Given the description of an element on the screen output the (x, y) to click on. 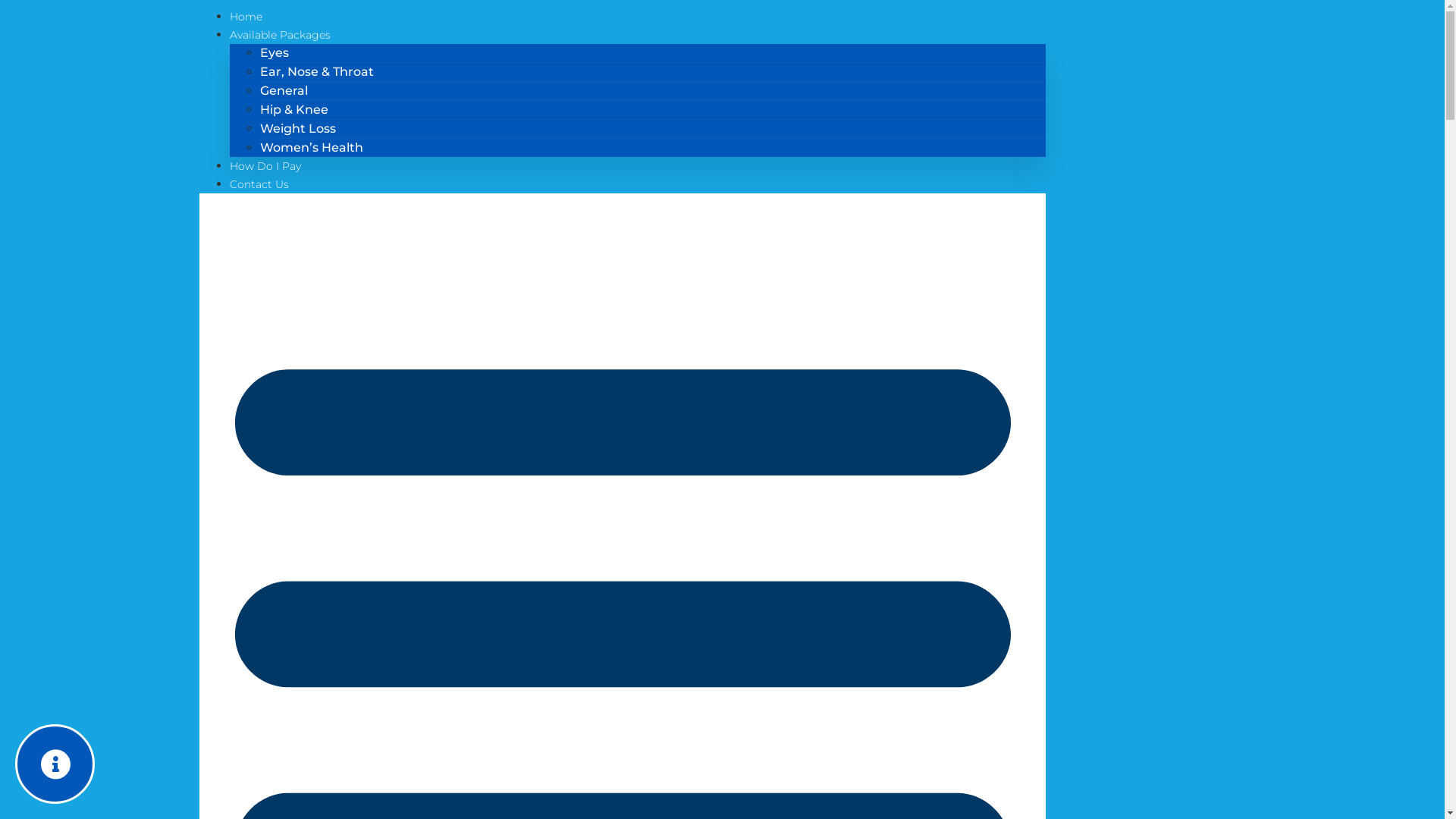
How Do I Pay Element type: text (264, 165)
Weight Loss Element type: text (297, 128)
Available Packages Element type: text (279, 34)
General Element type: text (283, 90)
Contact Us Element type: text (258, 184)
Ear, Nose & Throat Element type: text (316, 71)
Eyes Element type: text (273, 52)
Hip & Knee Element type: text (293, 109)
Home Element type: text (245, 16)
